Given the description of an element on the screen output the (x, y) to click on. 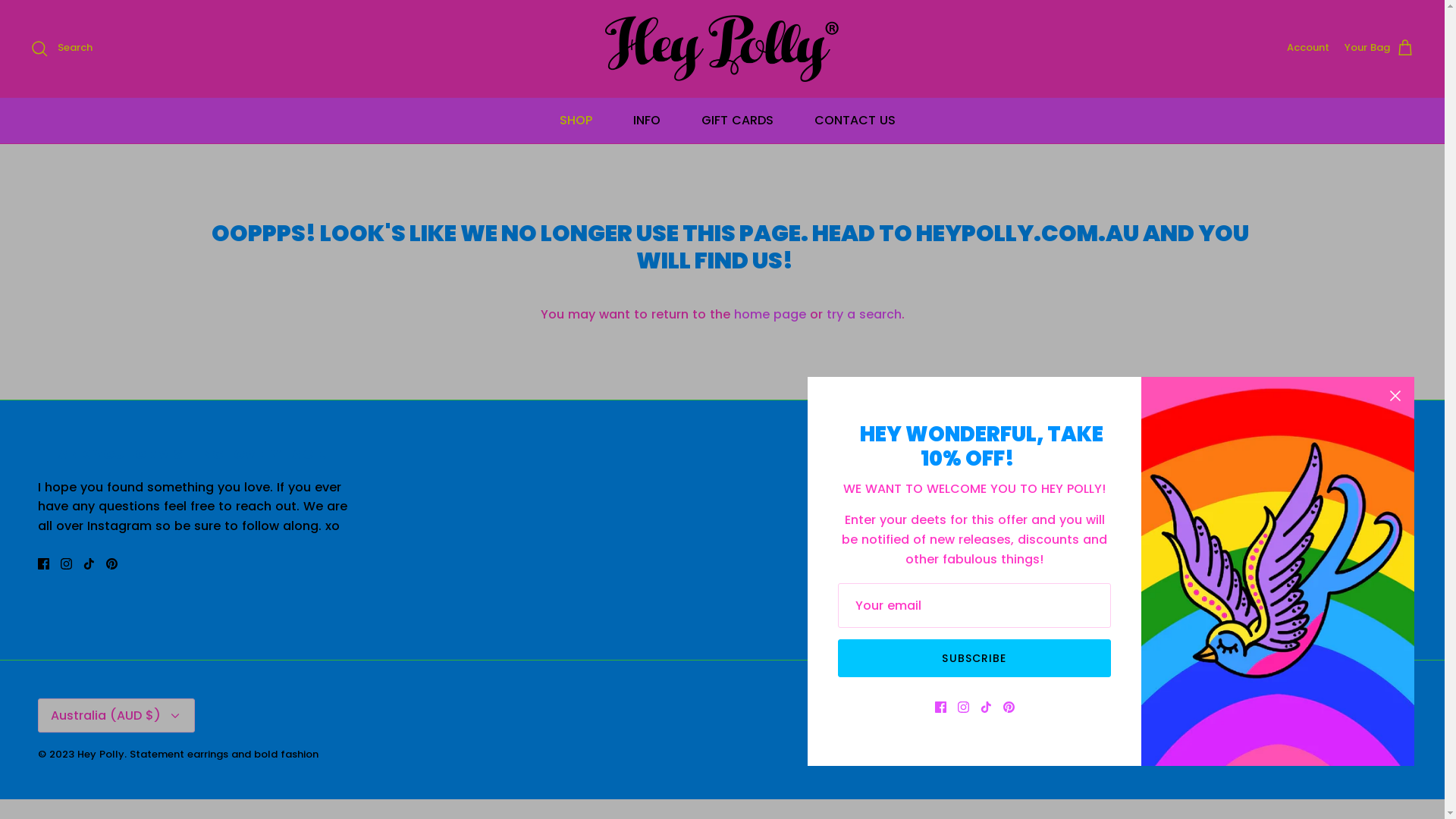
Contact Us Element type: text (1338, 480)
Statement earrings and bold fashion Element type: text (223, 753)
Refund Policy Element type: text (1343, 556)
Shop All Element type: text (1327, 505)
SUBSCRIBE Element type: text (973, 658)
Hey Polly Element type: text (100, 753)
home page Element type: text (770, 313)
Terms of Service Element type: text (1354, 582)
Hey Polly Element type: hover (722, 48)
Search Element type: text (61, 48)
Account Element type: text (1307, 48)
Pinterest Element type: text (111, 563)
About Element type: text (1321, 455)
Your Bag Element type: text (1379, 48)
try a search Element type: text (863, 313)
Facebook Element type: text (43, 563)
Australia (AUD $)
Down Element type: text (115, 715)
Shipping Element type: text (1329, 531)
Instagram Element type: text (66, 563)
